Given the description of an element on the screen output the (x, y) to click on. 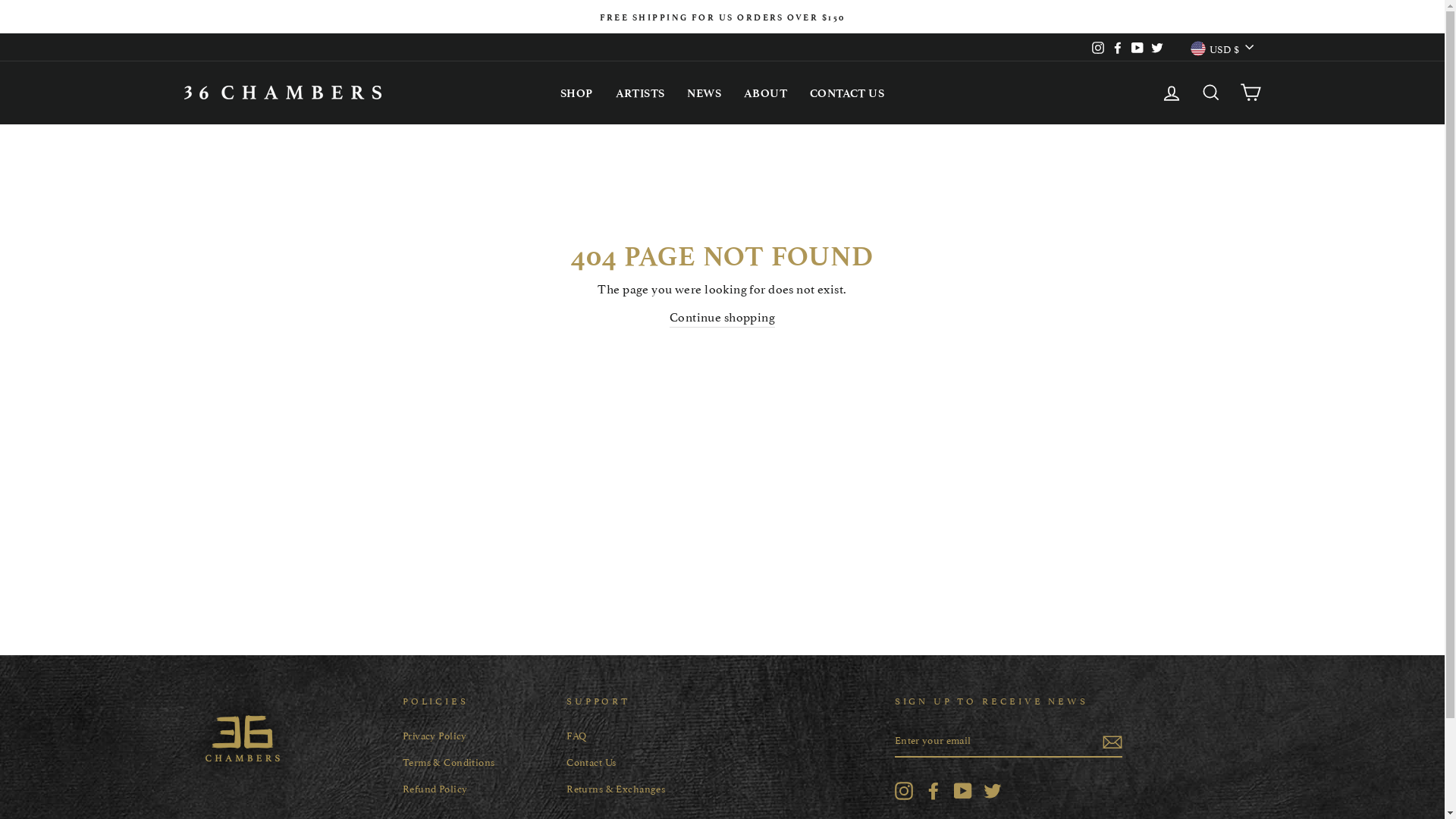
Terms & Conditions Element type: text (448, 761)
Returns & Exchanges Element type: text (615, 788)
Instagram Element type: text (903, 790)
Contact Us Element type: text (590, 761)
CART Element type: text (1249, 92)
Skip to content Element type: text (0, 0)
Instagram Element type: text (1097, 46)
ABOUT Element type: text (765, 92)
Twitter Element type: text (1157, 46)
Twitter Element type: text (992, 790)
Refund Policy Element type: text (434, 788)
Facebook Element type: text (933, 790)
Facebook Element type: text (1117, 46)
CONTACT US Element type: text (846, 92)
YouTube Element type: text (962, 790)
YouTube Element type: text (1137, 46)
LOG IN Element type: text (1170, 92)
Continue shopping Element type: text (722, 316)
ARTISTS Element type: text (640, 92)
Privacy Policy Element type: text (434, 734)
NEWS Element type: text (703, 92)
SEARCH Element type: text (1210, 92)
SHOP Element type: text (576, 92)
USD $ Element type: text (1221, 47)
FAQ Element type: text (576, 734)
